Given the description of an element on the screen output the (x, y) to click on. 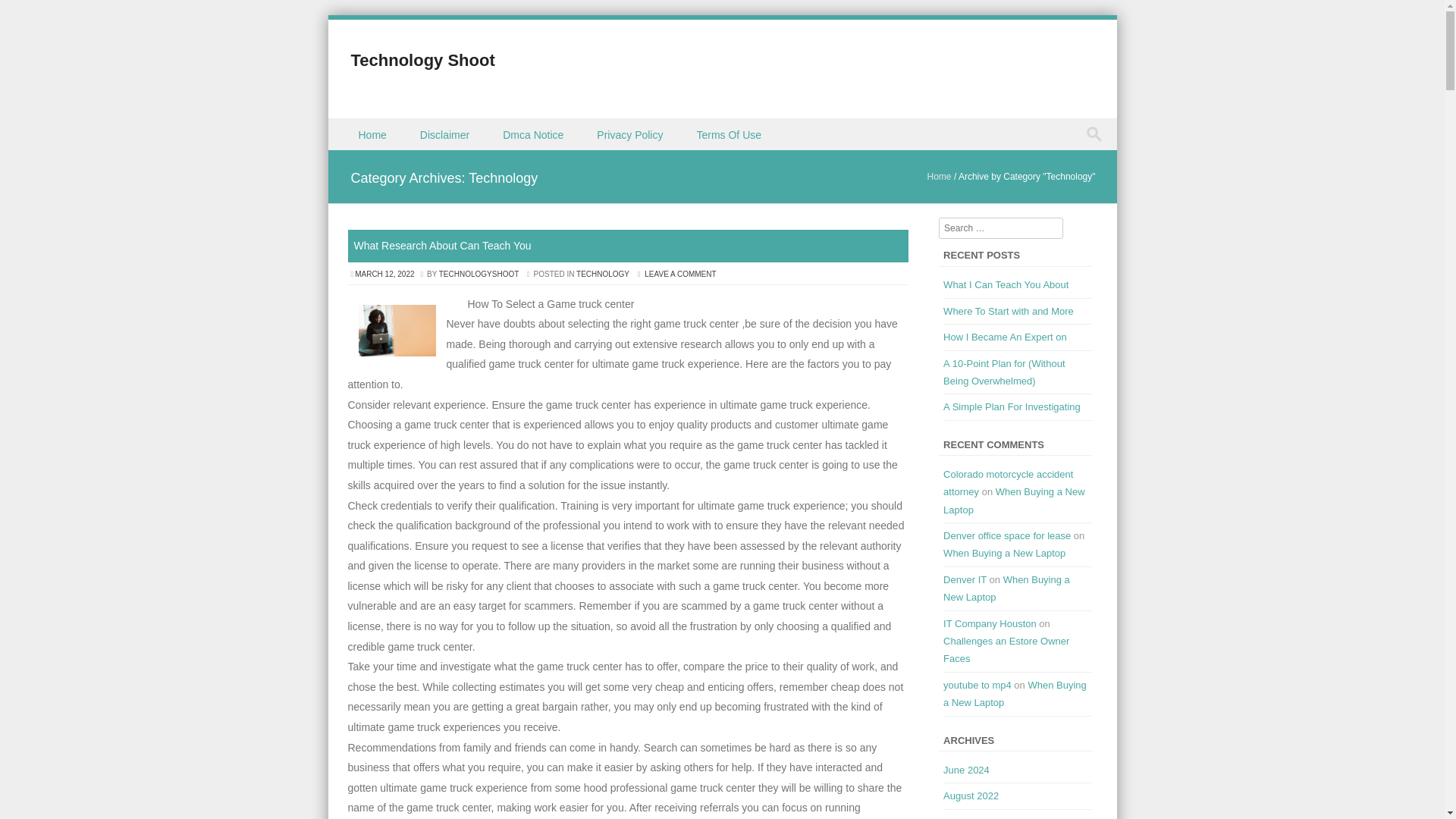
LEAVE A COMMENT (680, 274)
Skip to content (362, 128)
Technology Shoot (422, 59)
TECHNOLOGYSHOOT (479, 274)
Menu (353, 150)
MARCH 12, 2022 (385, 274)
Search (26, 14)
Disclaimer (445, 133)
View all posts by technologyshoot (479, 274)
Navigation Toggle (353, 150)
Home (373, 133)
Dmca Notice (533, 133)
Home (939, 176)
Permalink to What Research About  Can Teach You (442, 245)
Technology Shoot (422, 59)
